Given the description of an element on the screen output the (x, y) to click on. 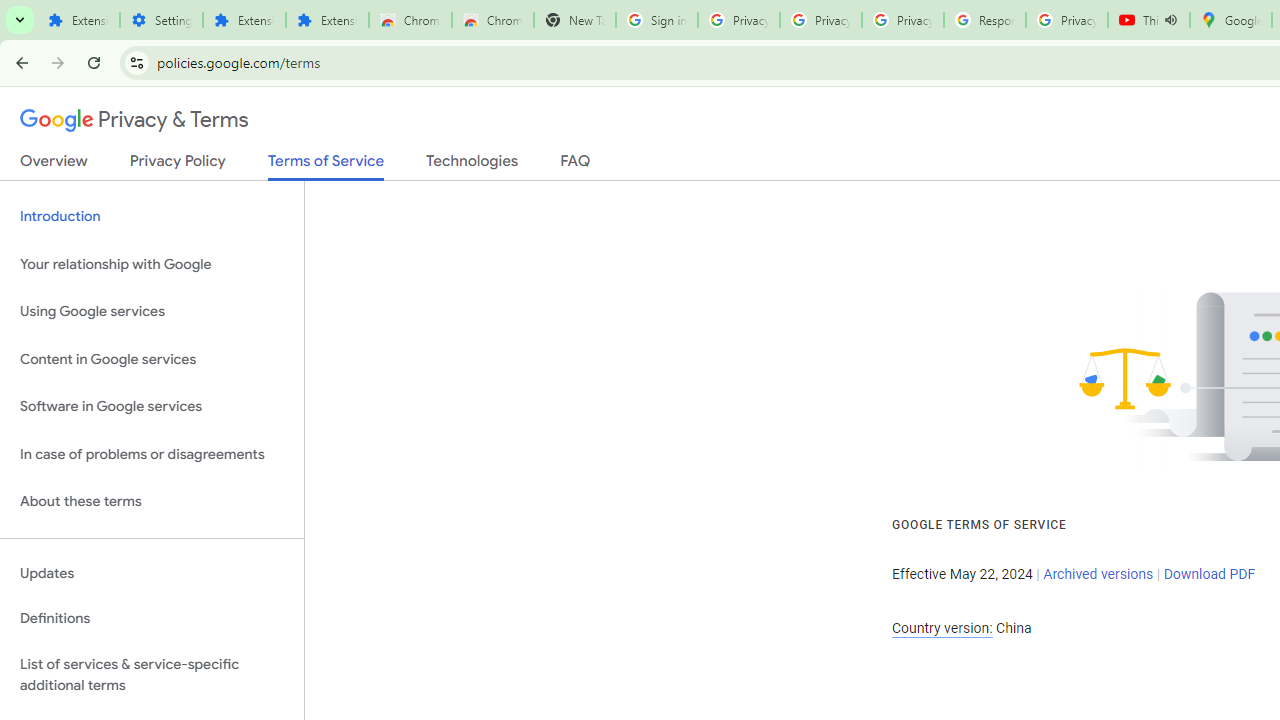
Country version: (942, 628)
In case of problems or disagreements (152, 453)
Definitions (152, 619)
List of services & service-specific additional terms (152, 674)
Download PDF (1209, 574)
Content in Google services (152, 358)
